Given the description of an element on the screen output the (x, y) to click on. 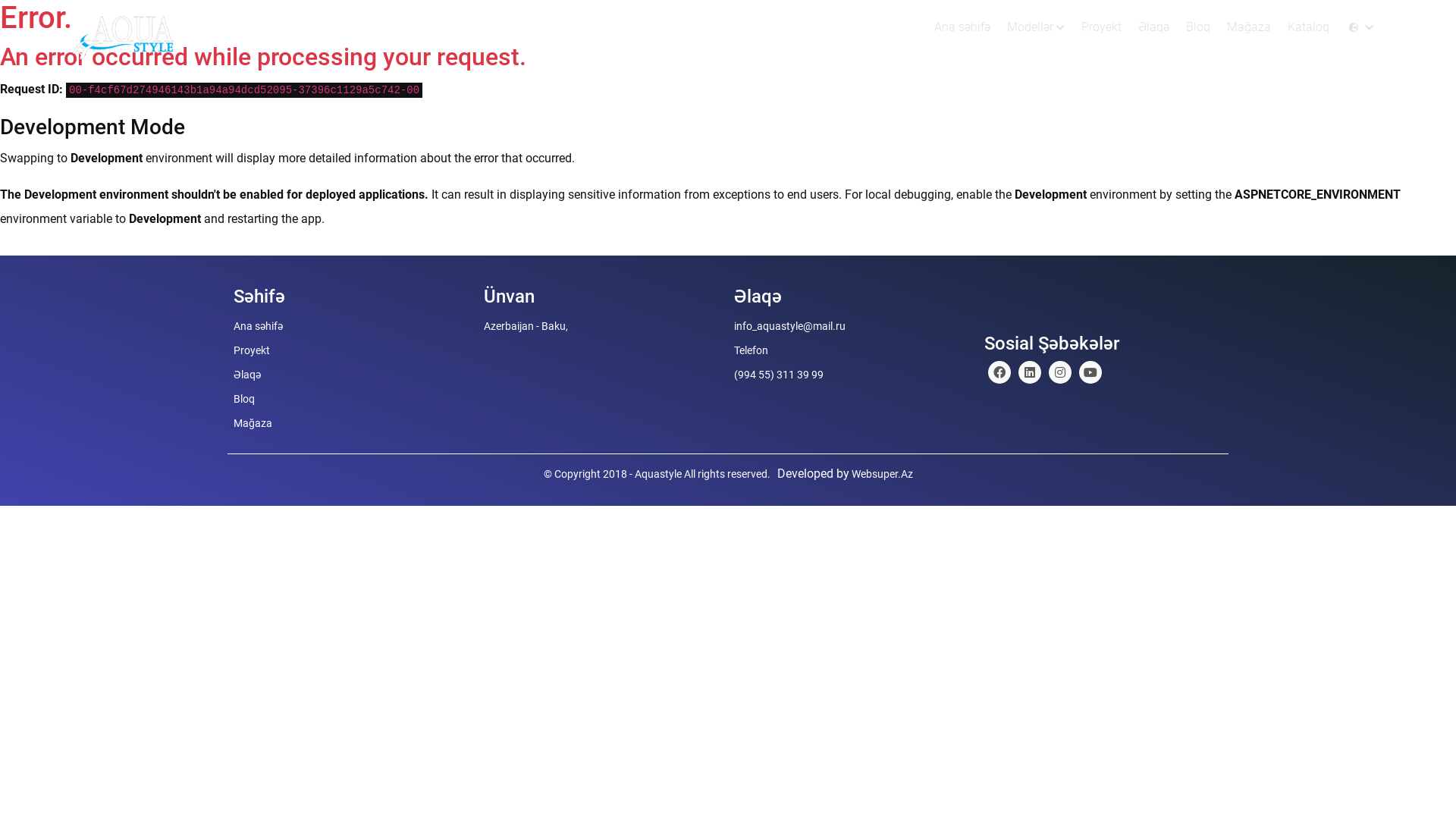
Linkedin Element type: hover (1059, 371)
info_aquastyle@mail.ru Element type: text (789, 326)
Telefon Element type: text (751, 350)
Proyekt Element type: text (251, 350)
Linkedin Element type: hover (1029, 371)
Kataloq Element type: text (1308, 26)
Proyekt Element type: text (1101, 26)
Bloq Element type: text (1198, 26)
Linkedin Element type: hover (1090, 371)
(994 55) 311 39 99 Element type: text (778, 374)
Bloq Element type: text (243, 398)
Facebook Element type: hover (999, 371)
Websuper.Az Element type: text (881, 473)
Azerbaijan - Baku, Element type: text (525, 326)
